Given the description of an element on the screen output the (x, y) to click on. 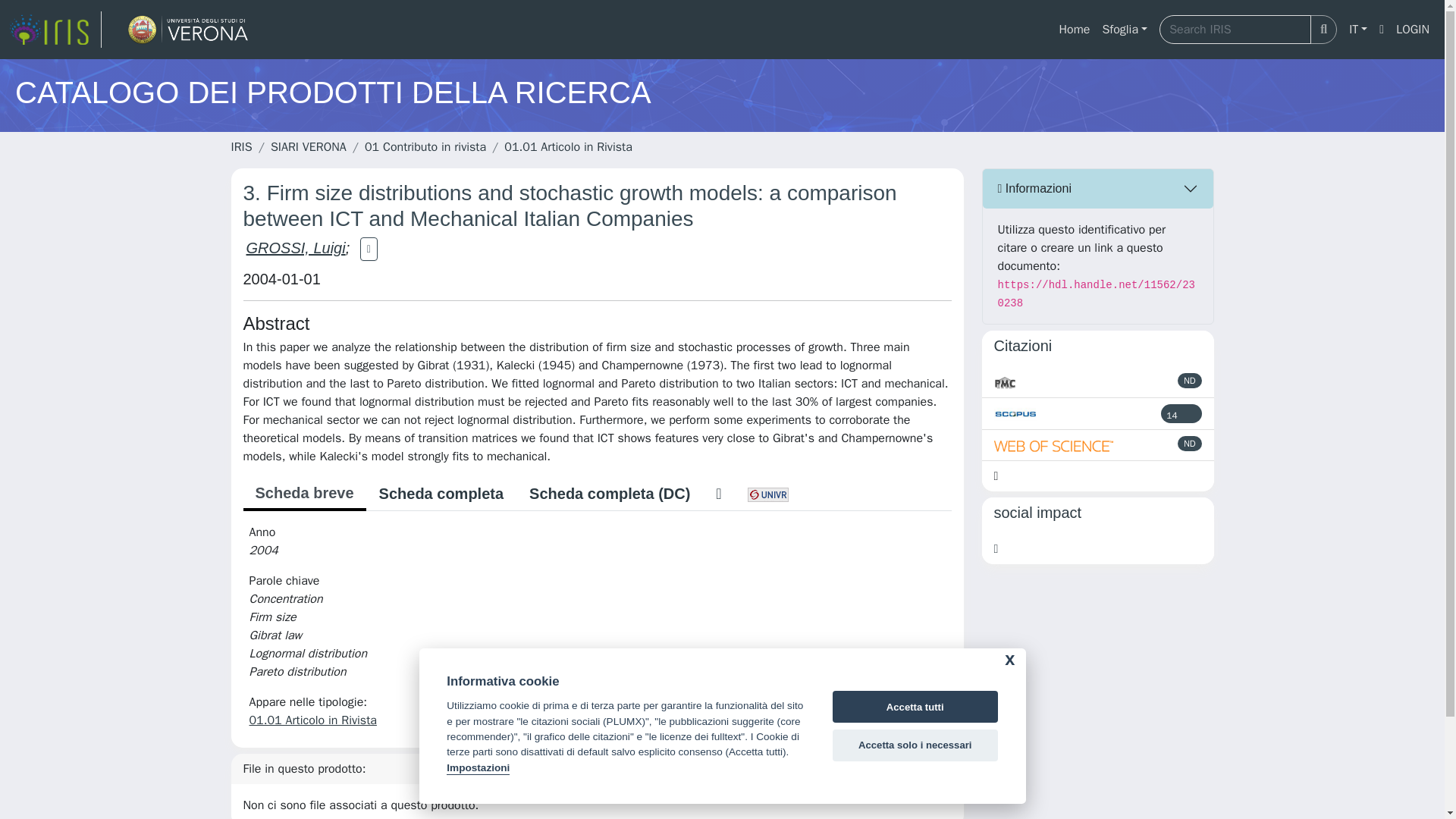
Sfoglia (1124, 29)
01.01 Articolo in Rivista (311, 720)
IRIS (240, 146)
LOGIN (1412, 29)
01.01 Articolo in Rivista (567, 146)
Scheda completa (441, 493)
SIARI VERONA (308, 146)
IT (1357, 29)
Home (1074, 29)
Scheda breve (304, 494)
01 Contributo in rivista (425, 146)
GROSSI, Luigi (295, 247)
 Informazioni (1097, 188)
